Given the description of an element on the screen output the (x, y) to click on. 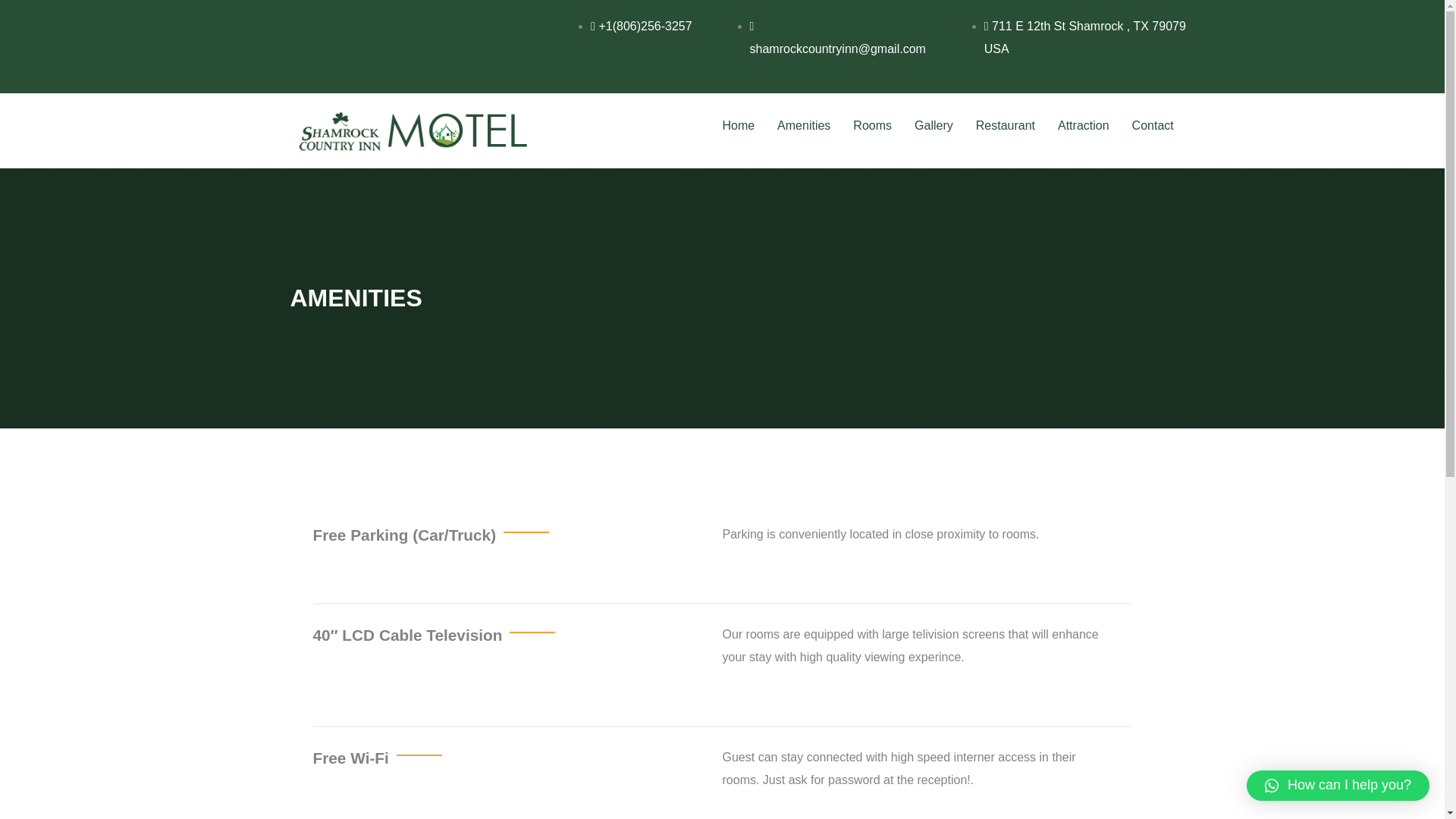
Attraction (1083, 125)
Home (737, 125)
Amenities (803, 125)
Rooms (871, 125)
How can I help you? (1337, 785)
Gallery (932, 125)
Restaurant (1004, 125)
Contact (1153, 125)
